Given the description of an element on the screen output the (x, y) to click on. 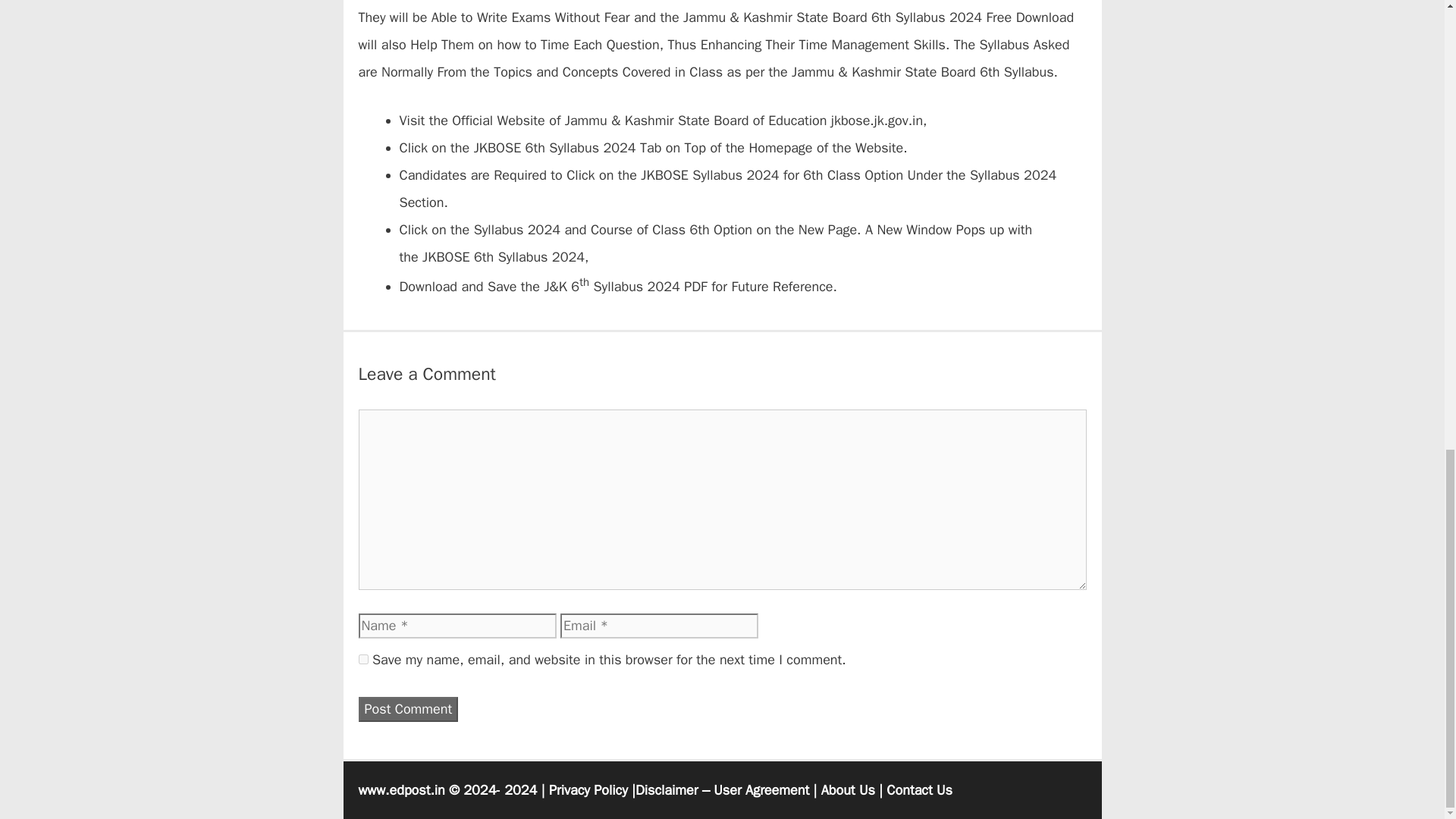
About Us (848, 790)
Privacy Policy (587, 790)
Post Comment (408, 708)
Post Comment (408, 708)
yes (363, 659)
Contact Us (919, 790)
